Given the description of an element on the screen output the (x, y) to click on. 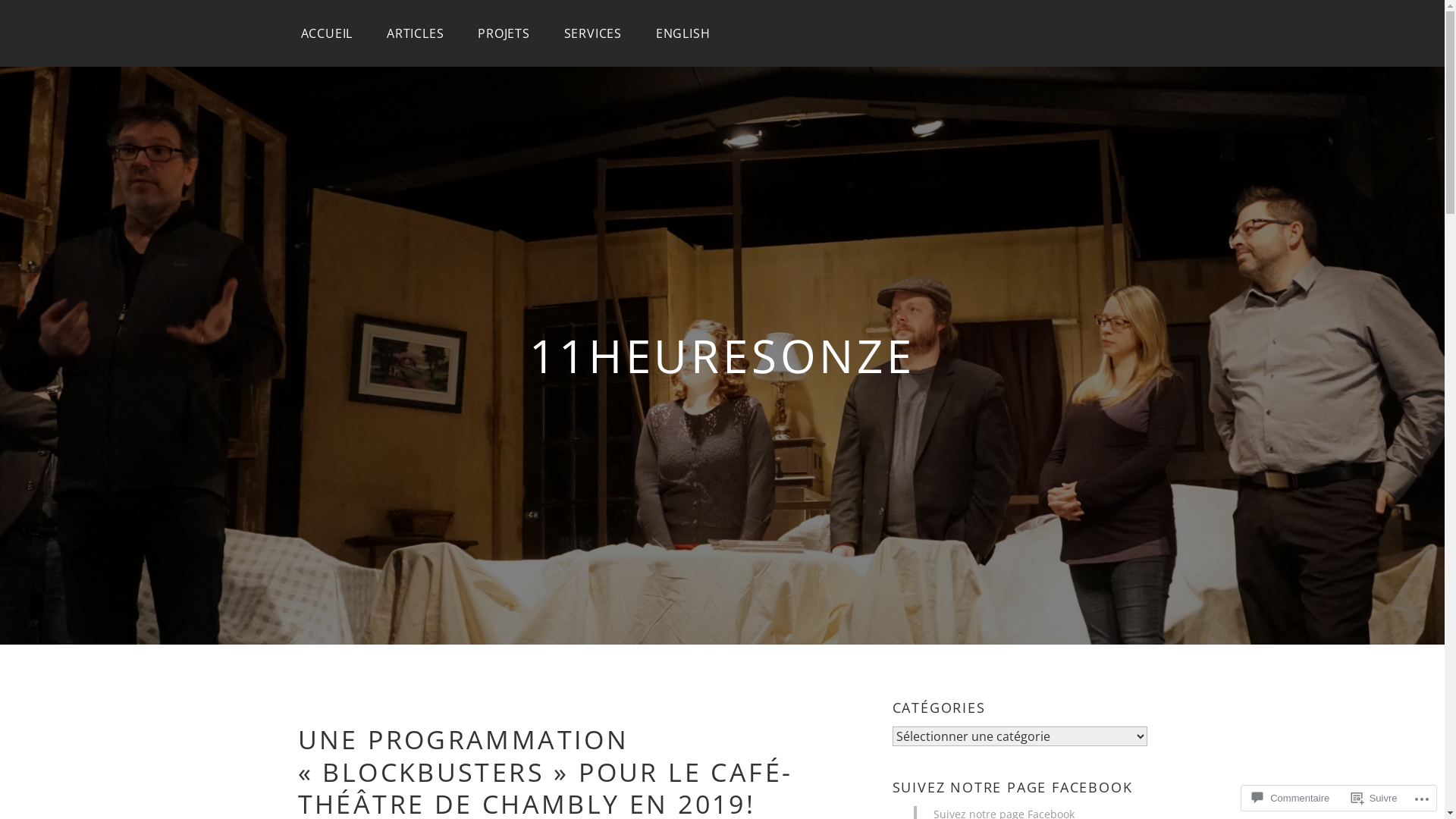
ENGLISH Element type: text (682, 33)
Commentaire Element type: text (1290, 797)
SUIVEZ NOTRE PAGE FACEBOOK Element type: text (1011, 787)
SERVICES Element type: text (593, 33)
ACCUEIL Element type: text (326, 33)
Suivre Element type: text (1374, 797)
ARTICLES Element type: text (414, 33)
11HEURESONZE Element type: text (722, 355)
PROJETS Element type: text (503, 33)
